Given the description of an element on the screen output the (x, y) to click on. 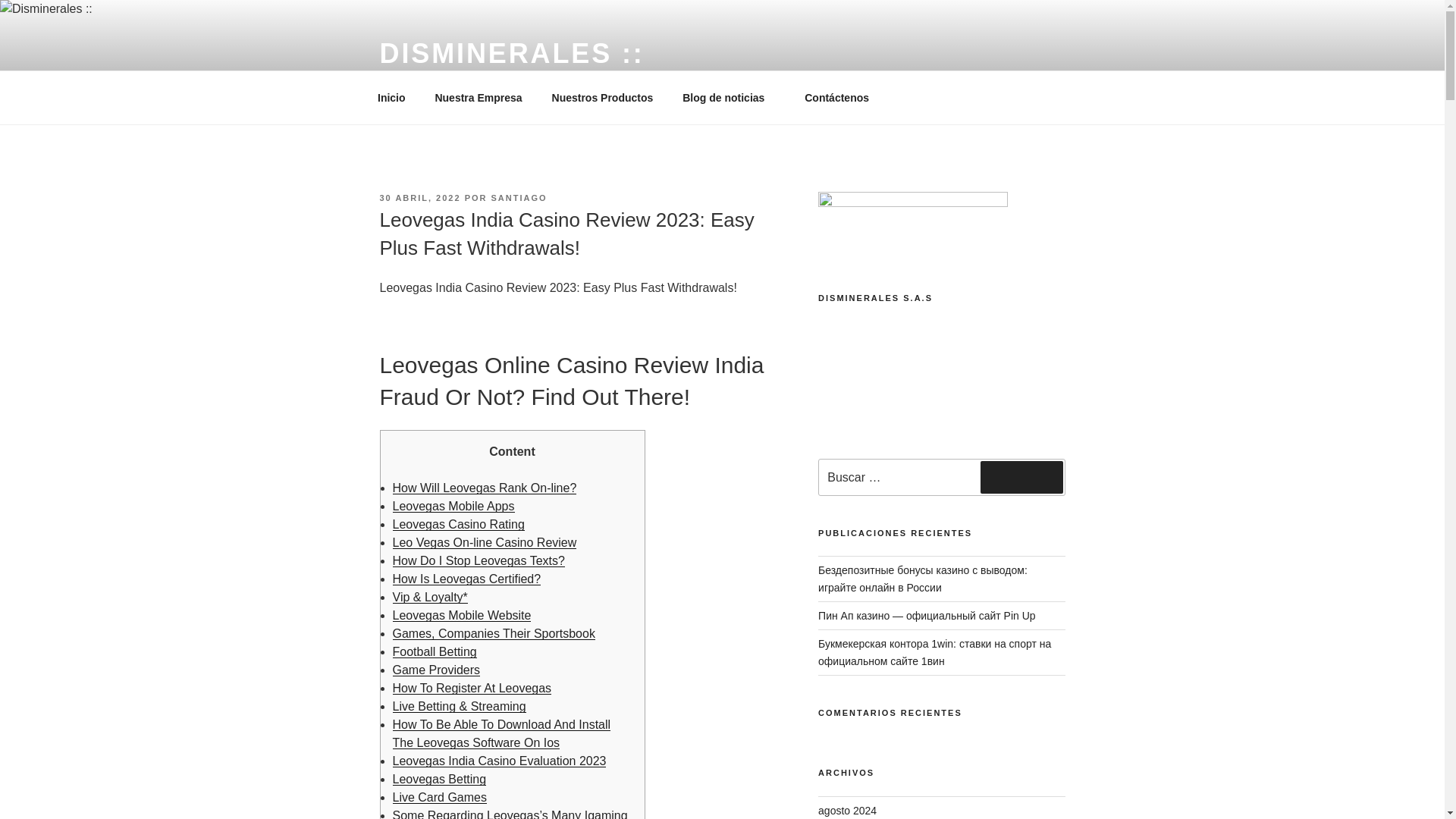
How To Register At Leovegas (472, 687)
DISMINERALES :: (510, 52)
Blog de noticias (729, 97)
SANTIAGO (519, 197)
Games, Companies Their Sportsbook (494, 633)
Leovegas Mobile Website (462, 615)
Leovegas Casino Rating (458, 523)
Leovegas Mobile Apps (454, 505)
How Do I Stop Leovegas Texts? (478, 560)
